Given the description of an element on the screen output the (x, y) to click on. 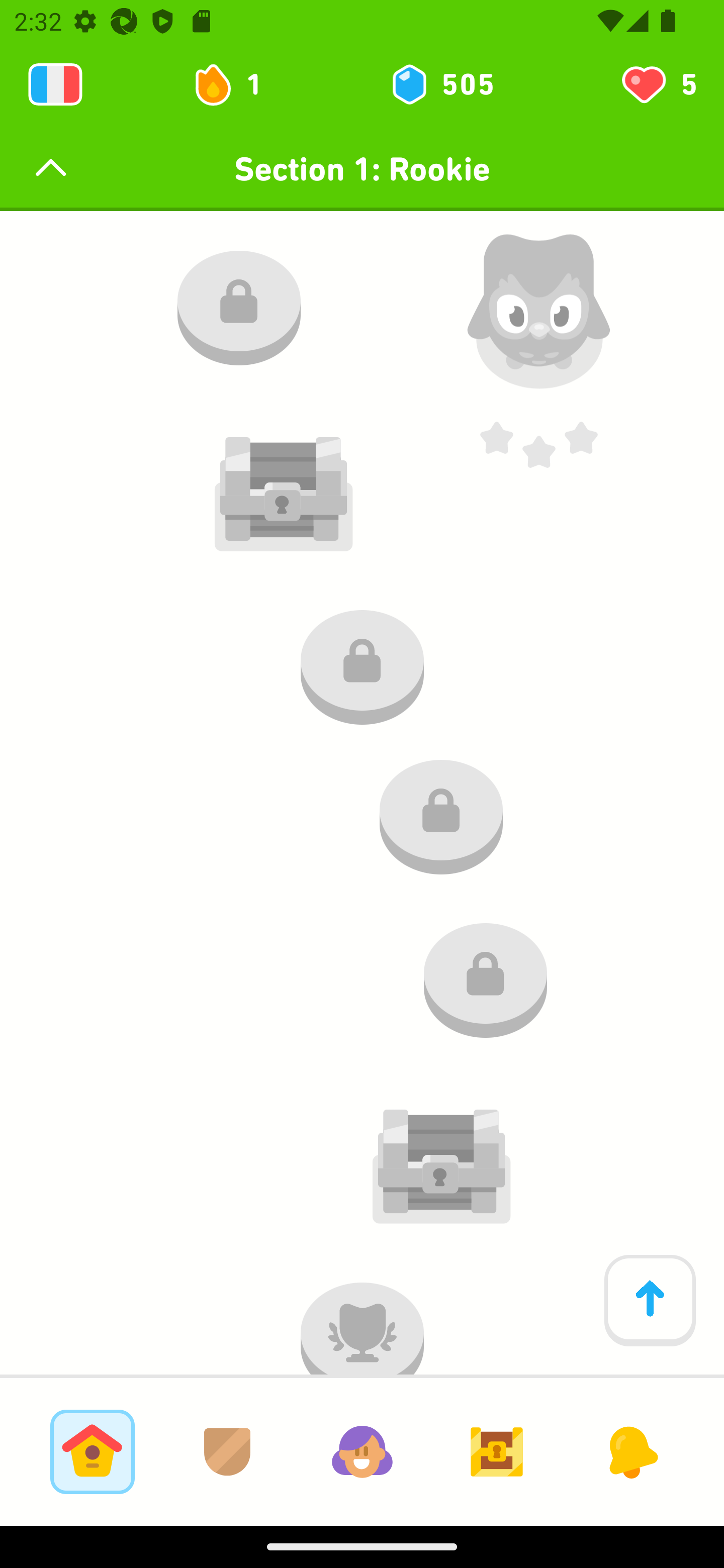
Learning 2131888976 (55, 84)
1 day streak 1 (236, 84)
505 (441, 84)
You have 5 hearts left 5 (657, 84)
Section 1: Rookie (362, 169)
Learn Tab (91, 1451)
Leagues Tab (227, 1451)
Profile Tab (361, 1451)
Goals Tab (496, 1451)
News Tab (631, 1451)
